Given the description of an element on the screen output the (x, y) to click on. 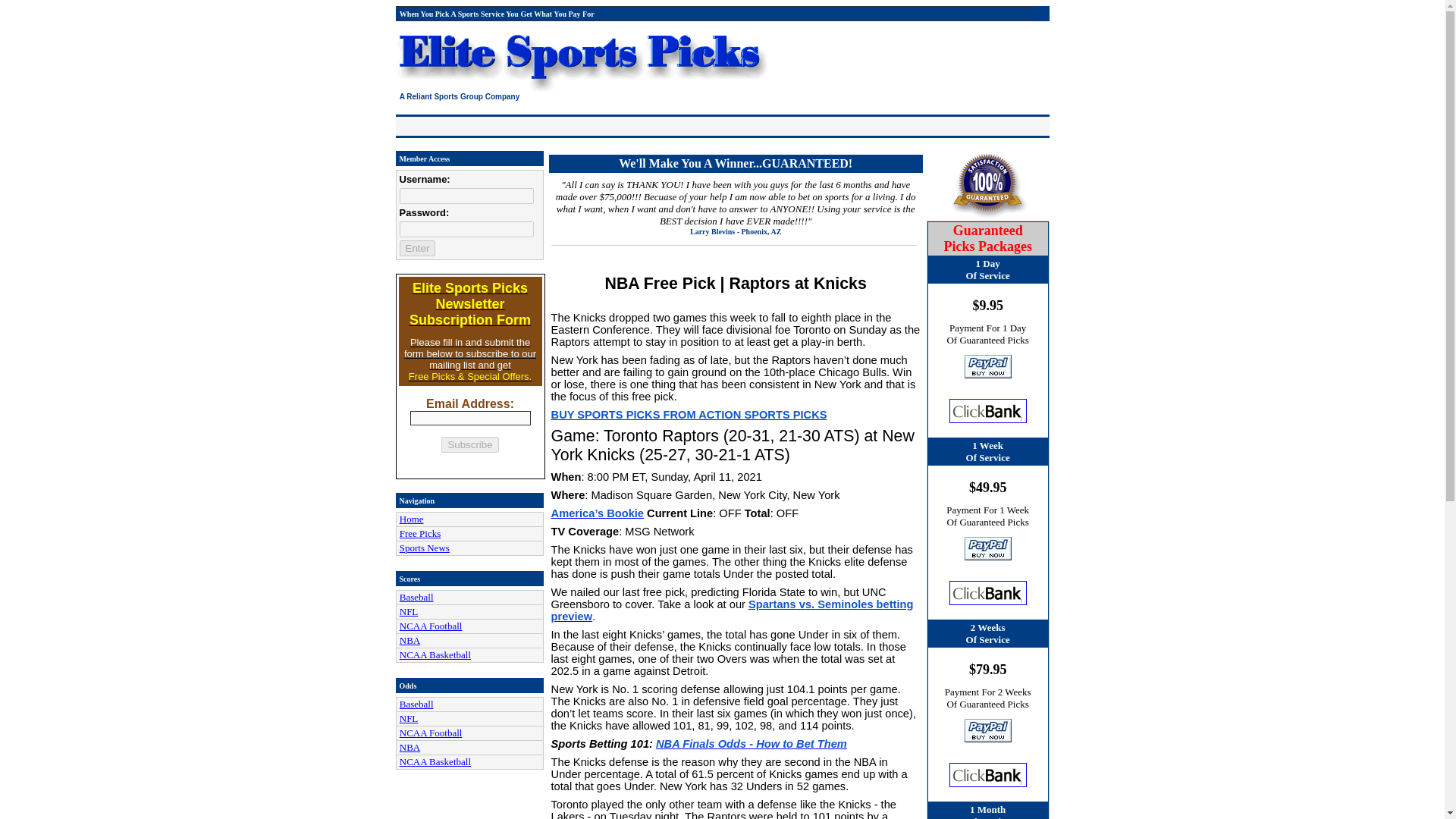
Spartans vs. Seminoles betting preview (732, 609)
NCAA Football (430, 625)
Subscribe (469, 444)
NBA Finals Odds - How to Bet Them (751, 743)
Enter (416, 248)
Baseball (415, 704)
Baseball (415, 596)
MyNewsletterBuilder (469, 331)
Free Picks (419, 532)
NBA (409, 747)
NCAA Football (430, 732)
NCAA Basketball (434, 761)
Home (410, 518)
Subscribe (469, 444)
NFL (408, 717)
